Given the description of an element on the screen output the (x, y) to click on. 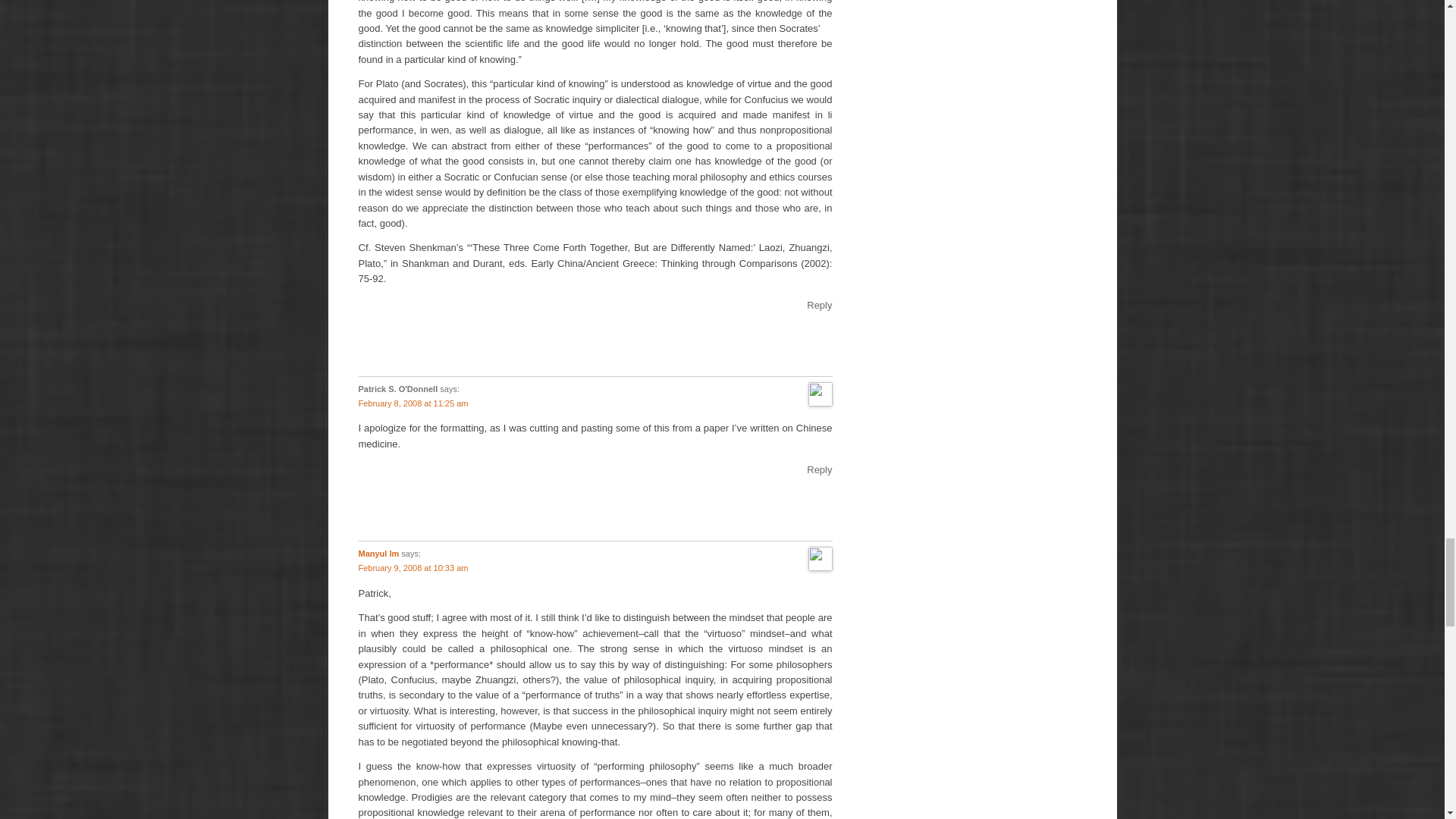
Reply (818, 305)
